Given the description of an element on the screen output the (x, y) to click on. 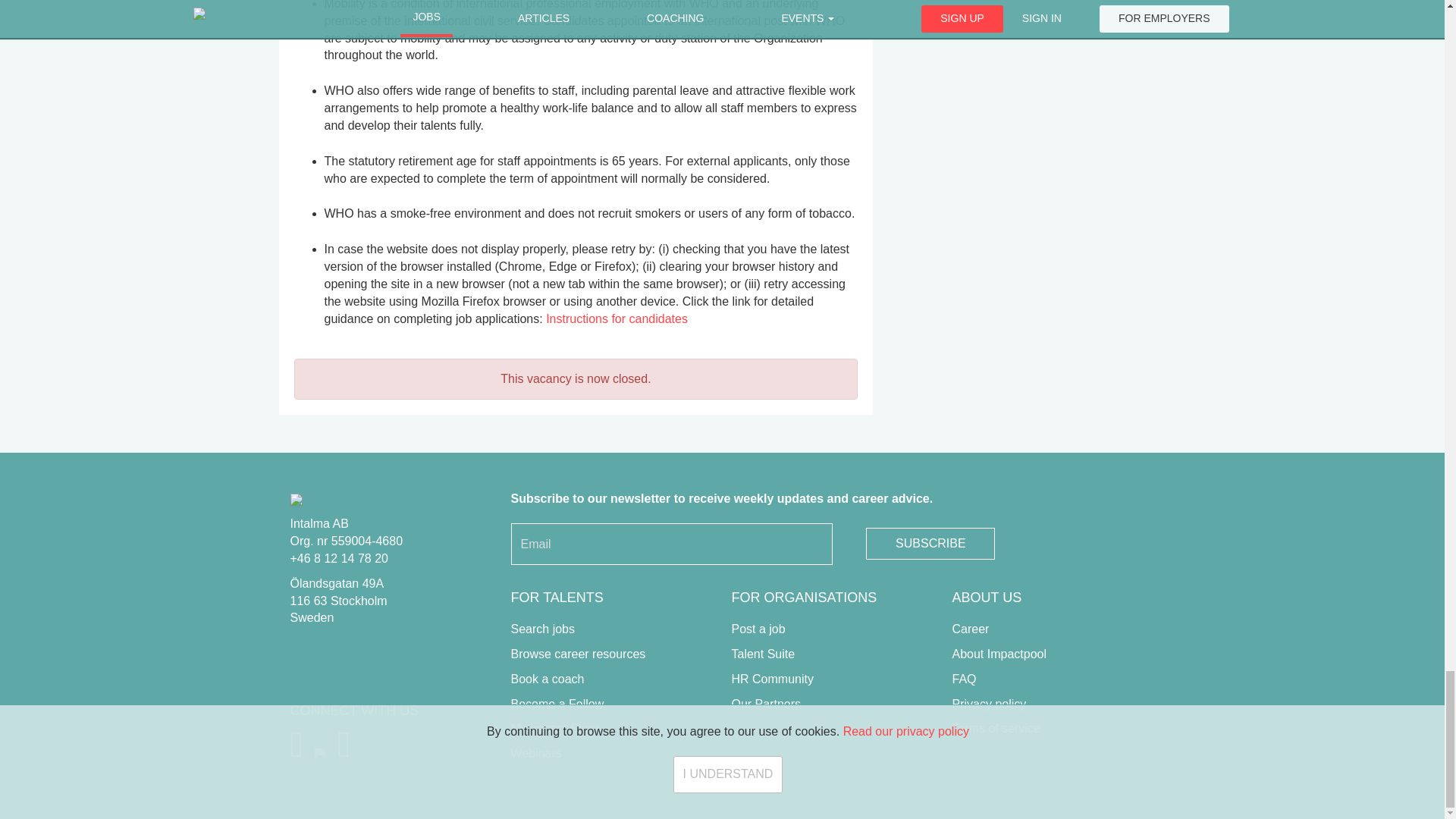
Privacy policy (989, 703)
Terms of service (996, 727)
Career (971, 628)
Subscribe (930, 543)
Instructions for candidates (616, 318)
Search jobs (543, 628)
FAQ (964, 678)
Subscribe (930, 543)
About Impactpool (999, 653)
